Given the description of an element on the screen output the (x, y) to click on. 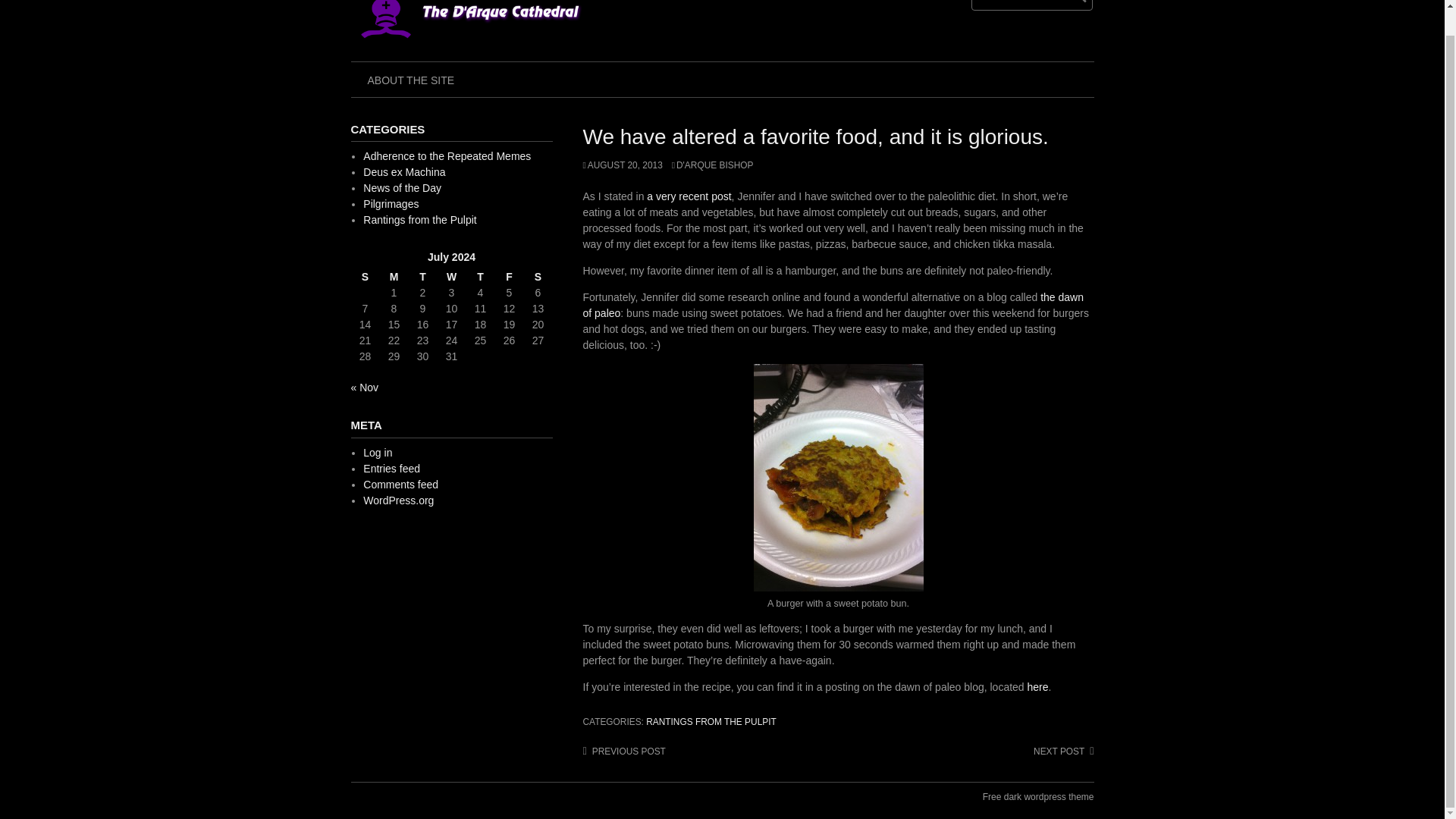
News of the Day (401, 187)
WordPress.org (397, 500)
Friday (508, 277)
Log in (376, 452)
NEXT POST (1063, 751)
Monday (392, 277)
Free dark wordpress theme (1038, 796)
Pilgrimages (390, 203)
the dawn of paleo (832, 305)
Rantings from the Pulpit (419, 219)
Wednesday (450, 277)
Comments feed (400, 484)
Thursday (480, 277)
Saturday (536, 277)
RANTINGS FROM THE PULPIT (711, 721)
